Given the description of an element on the screen output the (x, y) to click on. 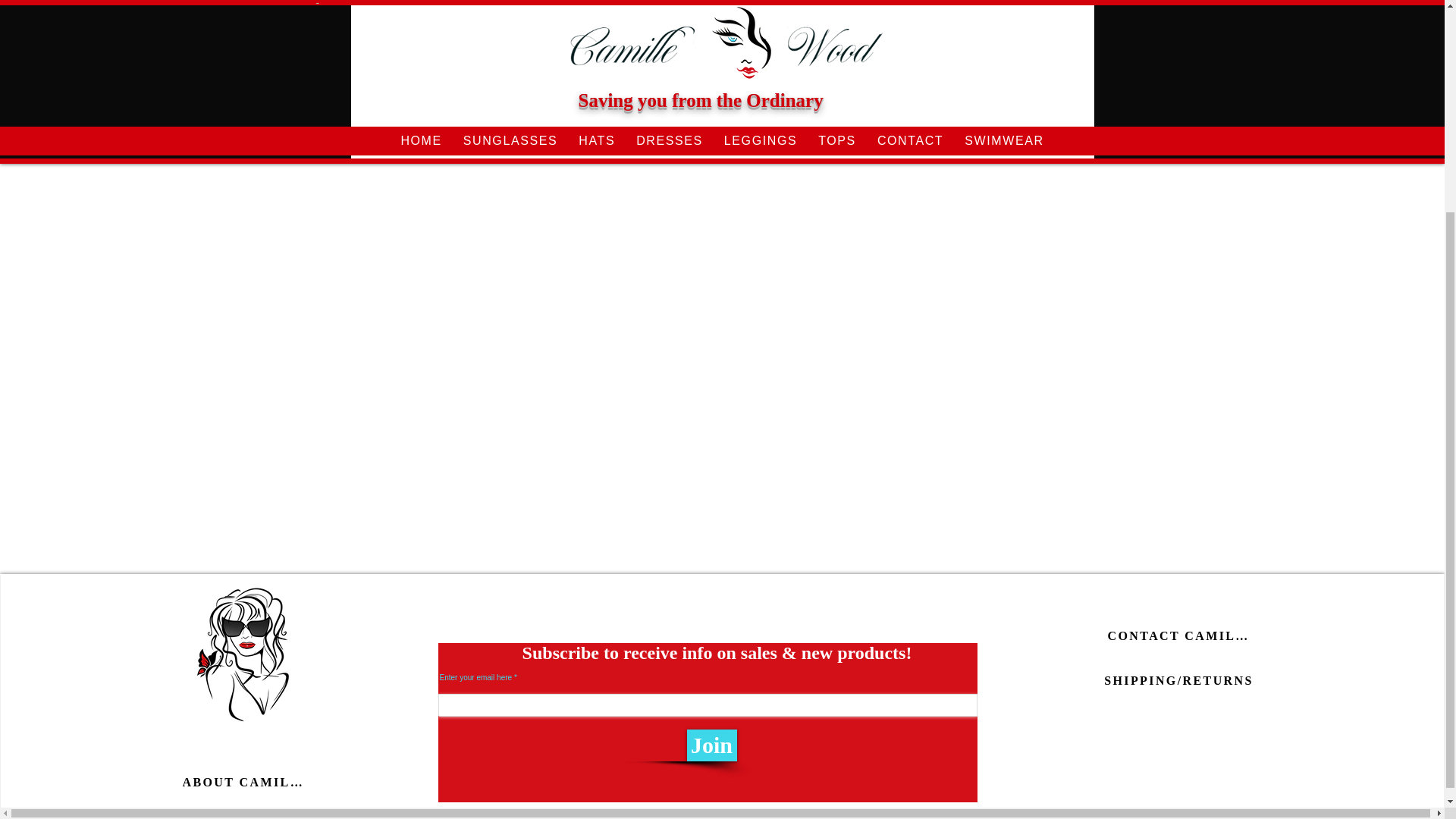
ABOUT CAMILLE (243, 782)
CONTACT CAMILLE (1177, 636)
Join (711, 745)
